Given the description of an element on the screen output the (x, y) to click on. 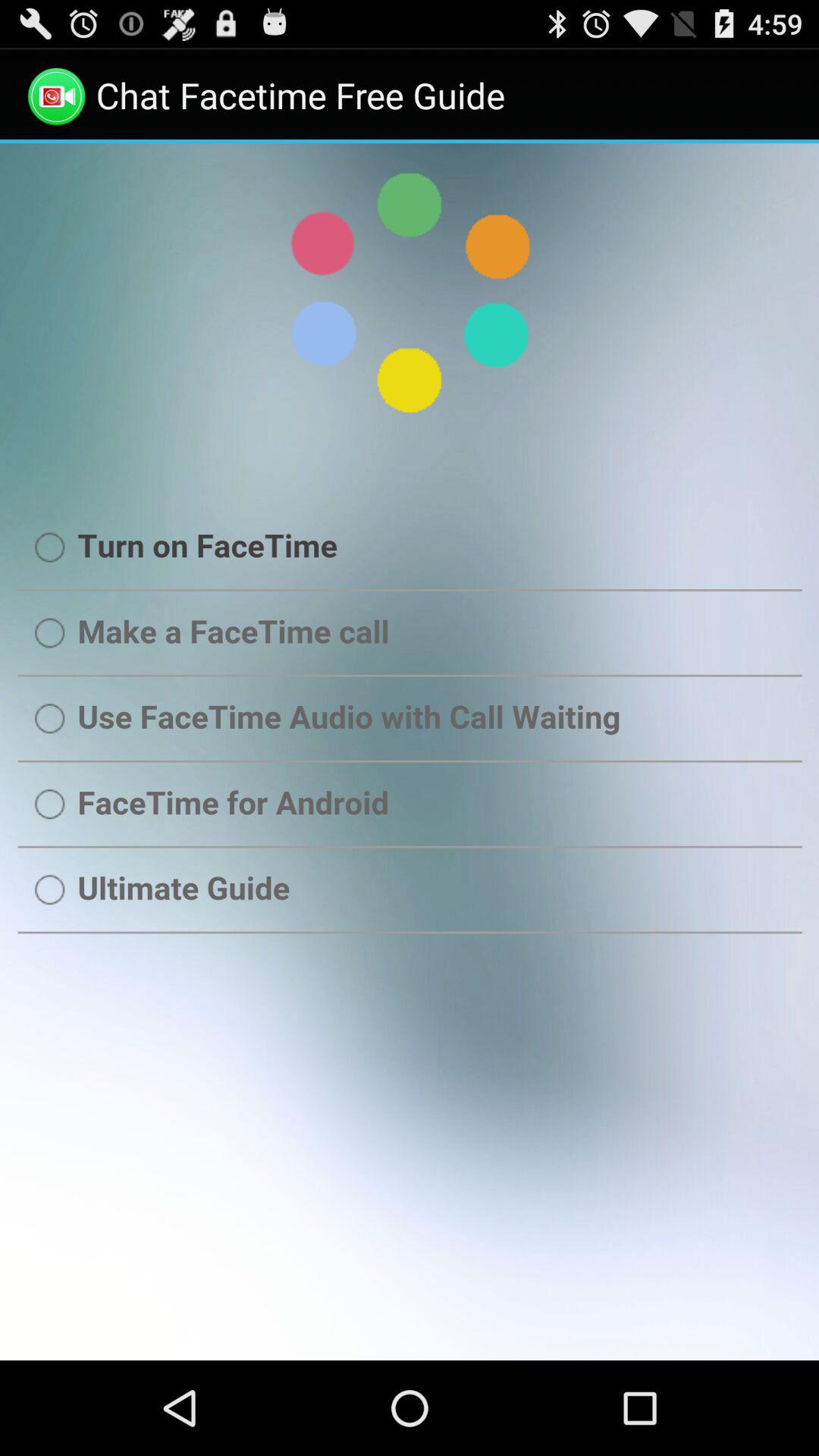
front the page (409, 751)
